Given the description of an element on the screen output the (x, y) to click on. 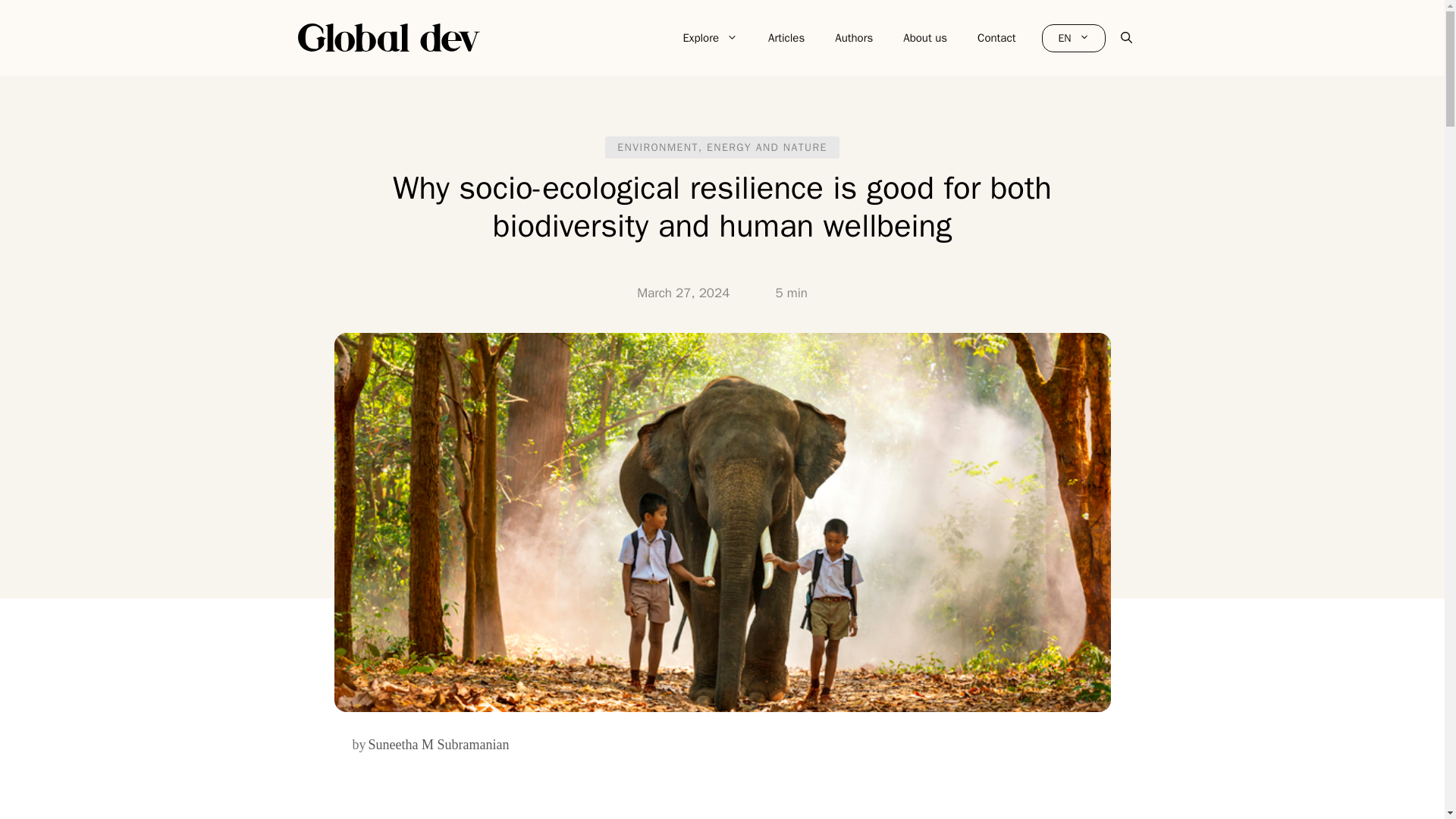
Authors (853, 37)
Explore (709, 37)
Articles (785, 37)
Contact (996, 37)
EN (1073, 38)
About us (925, 37)
ENVIRONMENT, ENERGY AND NATURE (721, 147)
